Given the description of an element on the screen output the (x, y) to click on. 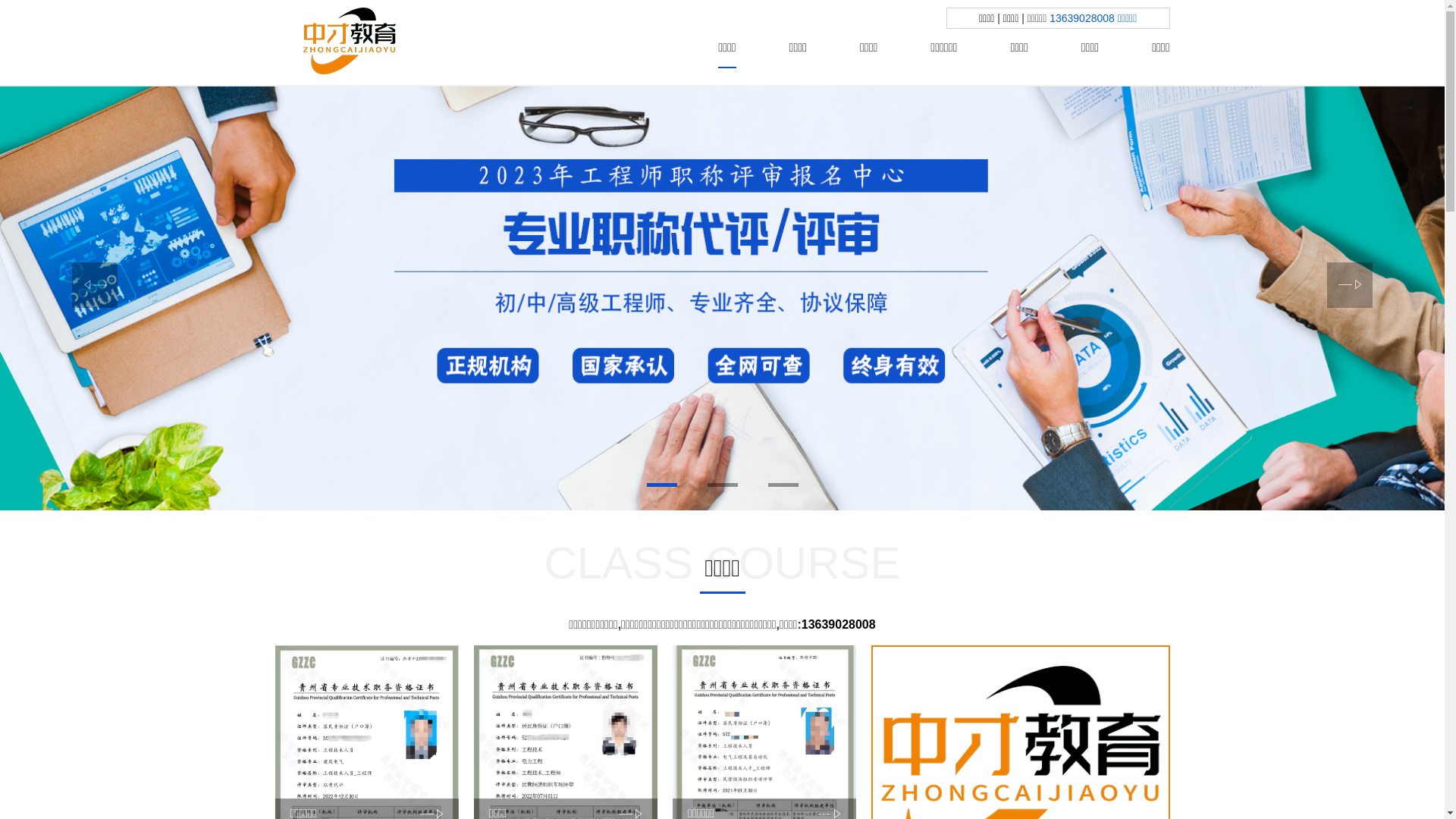
13639028008 Element type: text (838, 624)
